Given the description of an element on the screen output the (x, y) to click on. 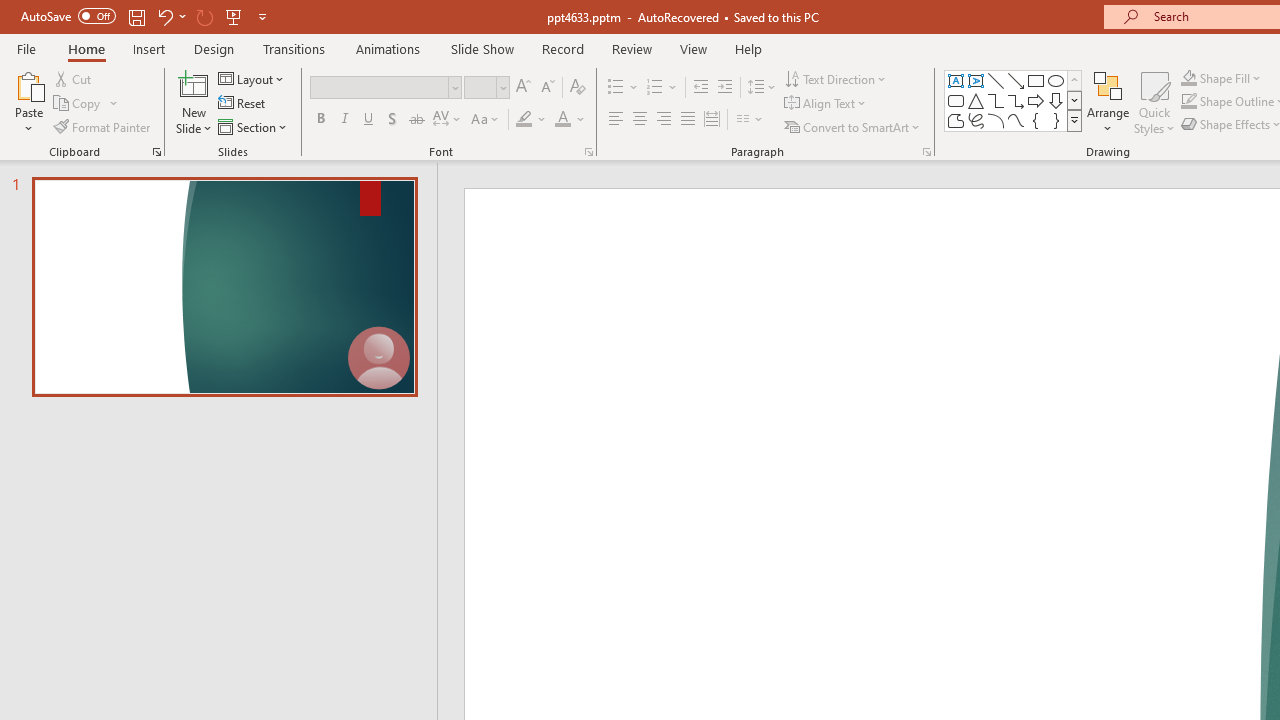
Connector: Elbow Arrow (1016, 100)
Clear Formatting (577, 87)
Arrange (1108, 102)
Justify (687, 119)
Freeform: Shape (955, 120)
Arrow: Right (1035, 100)
Strikethrough (416, 119)
